Given the description of an element on the screen output the (x, y) to click on. 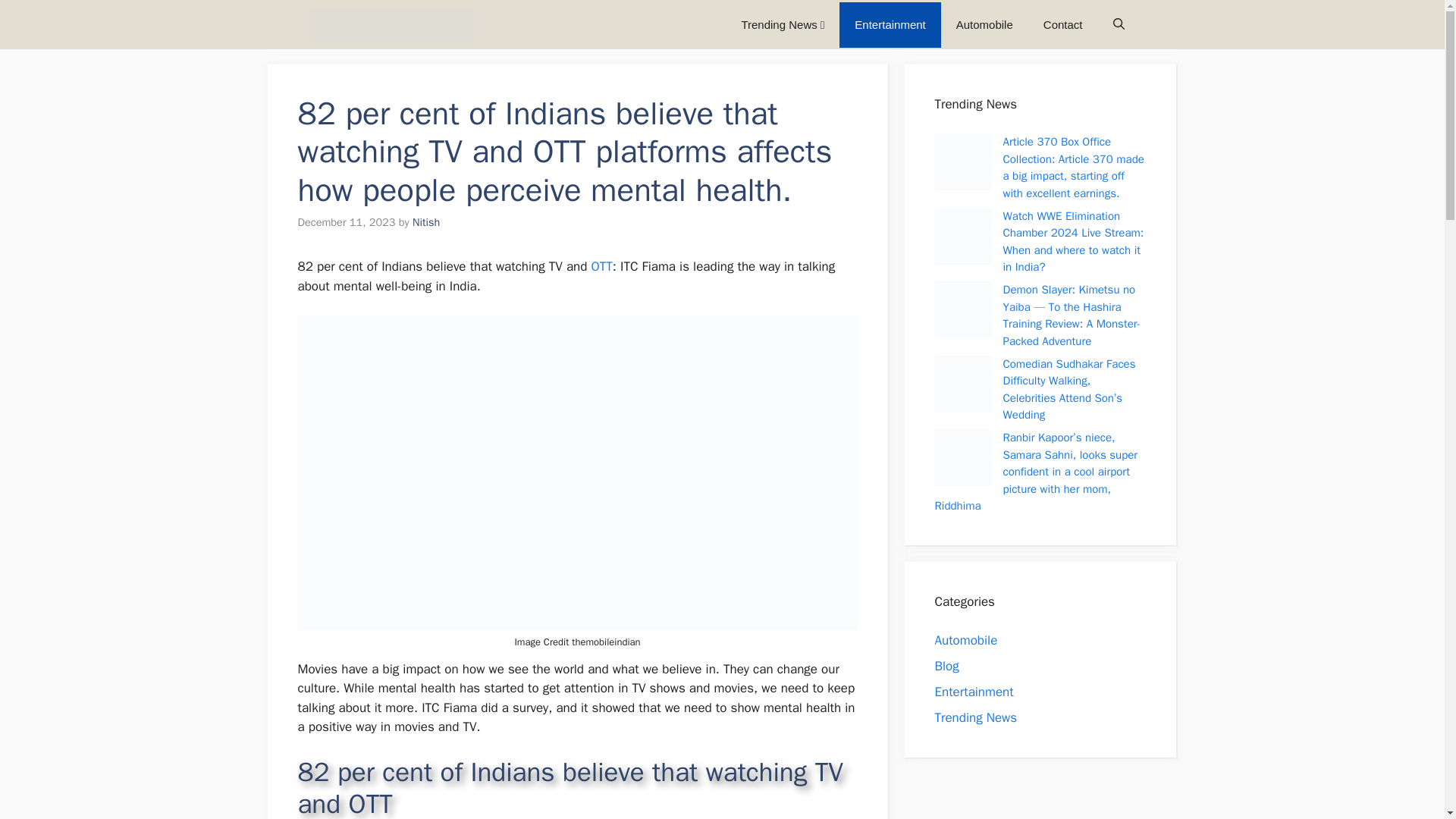
Automobile (965, 640)
OTT (601, 266)
Entertainment (890, 23)
Blog (946, 666)
Entertainment (973, 691)
View all posts by Nitish (425, 222)
Nitish (425, 222)
Contact (1062, 23)
Automobile (983, 23)
Trending News (975, 717)
